Given the description of an element on the screen output the (x, y) to click on. 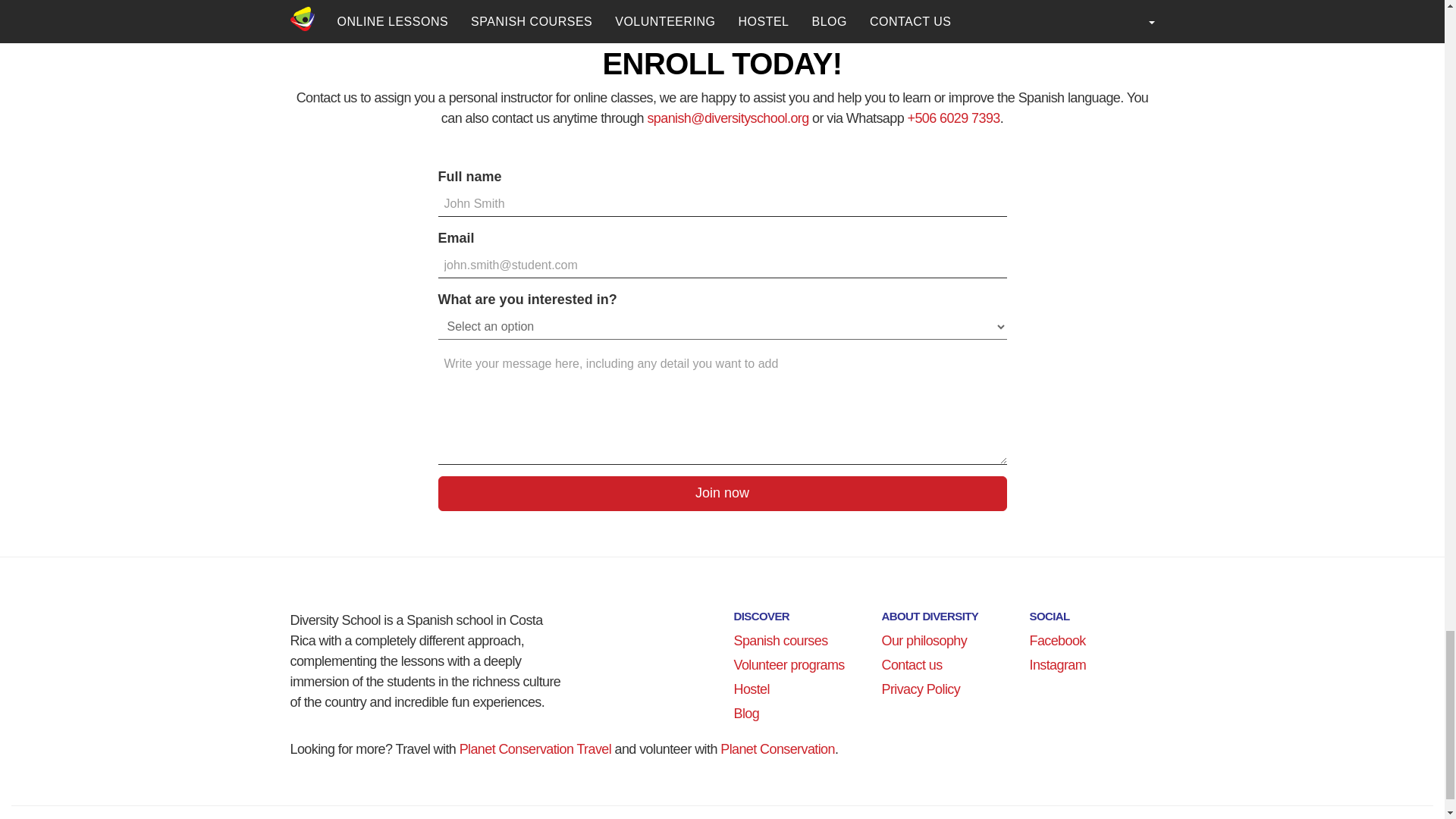
Hostel (750, 688)
Blog (745, 713)
Join now (722, 493)
Planet Conservation (777, 749)
Facebook (1056, 640)
Privacy Policy (919, 688)
Instagram (1057, 664)
Our philosophy (923, 640)
Contact us (911, 664)
Volunteer programs (788, 664)
Planet Conservation Travel (535, 749)
Spanish courses (780, 640)
